Given the description of an element on the screen output the (x, y) to click on. 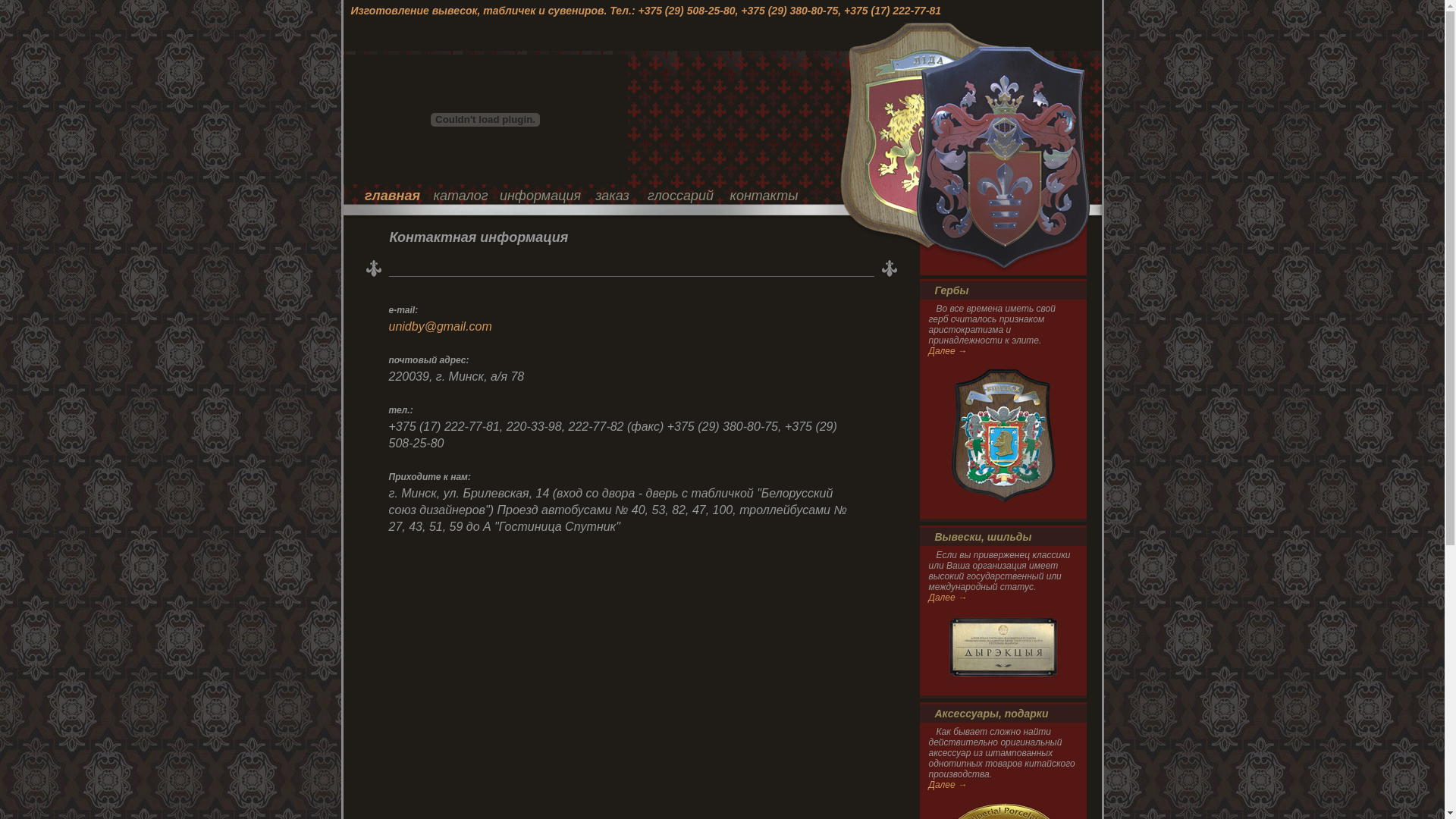
aversby Element type: hover (484, 180)
unidby@gmail.com Element type: text (439, 326)
